Given the description of an element on the screen output the (x, y) to click on. 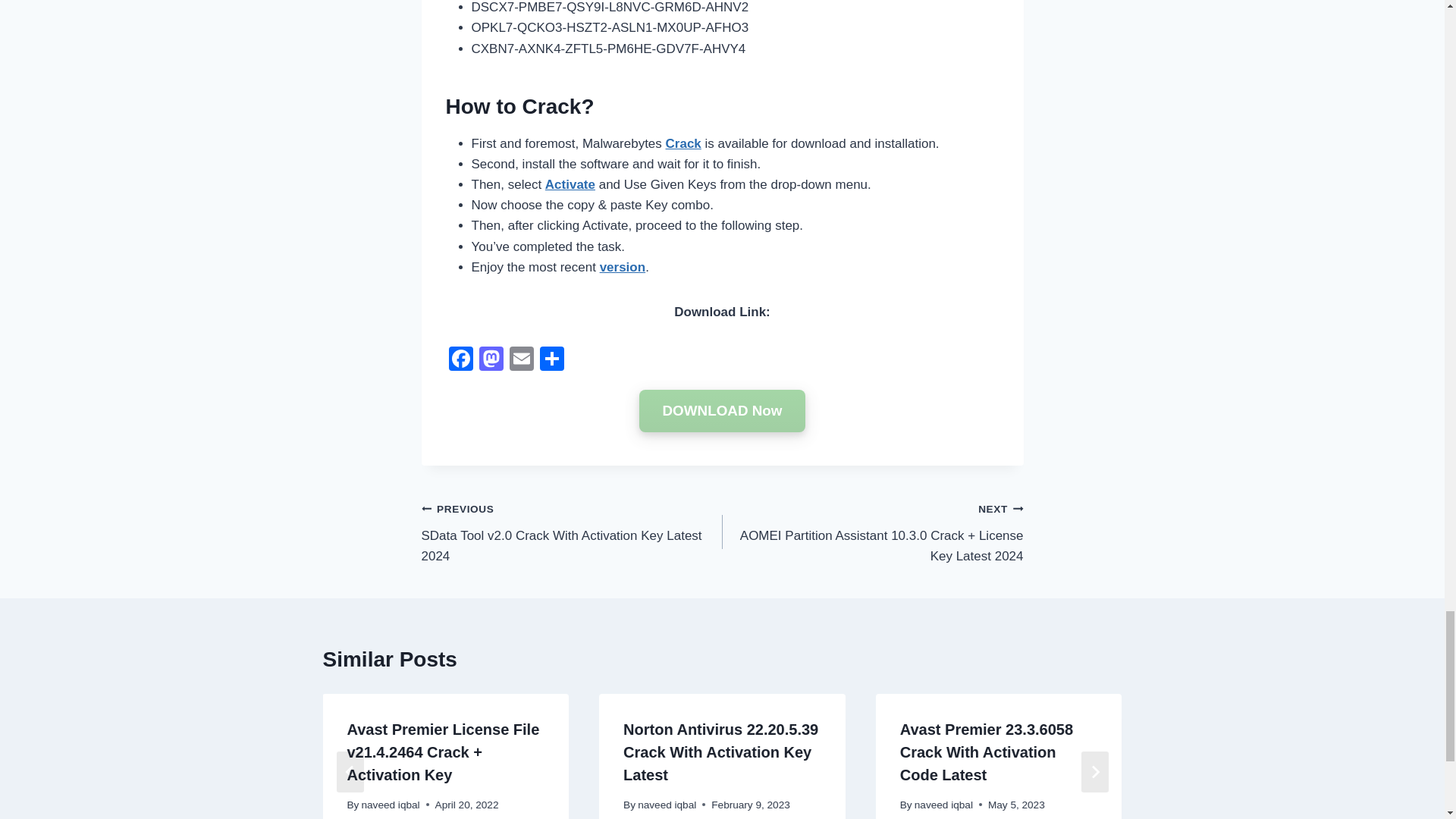
Mastodon (491, 360)
Share (552, 360)
Email (521, 360)
Email (521, 360)
DOWNLOAD Now (722, 410)
DOWNLOAD Now (721, 411)
Facebook (460, 360)
Mastodon (491, 360)
Activate (569, 184)
version (622, 267)
Facebook (460, 360)
Crack (683, 143)
